Given the description of an element on the screen output the (x, y) to click on. 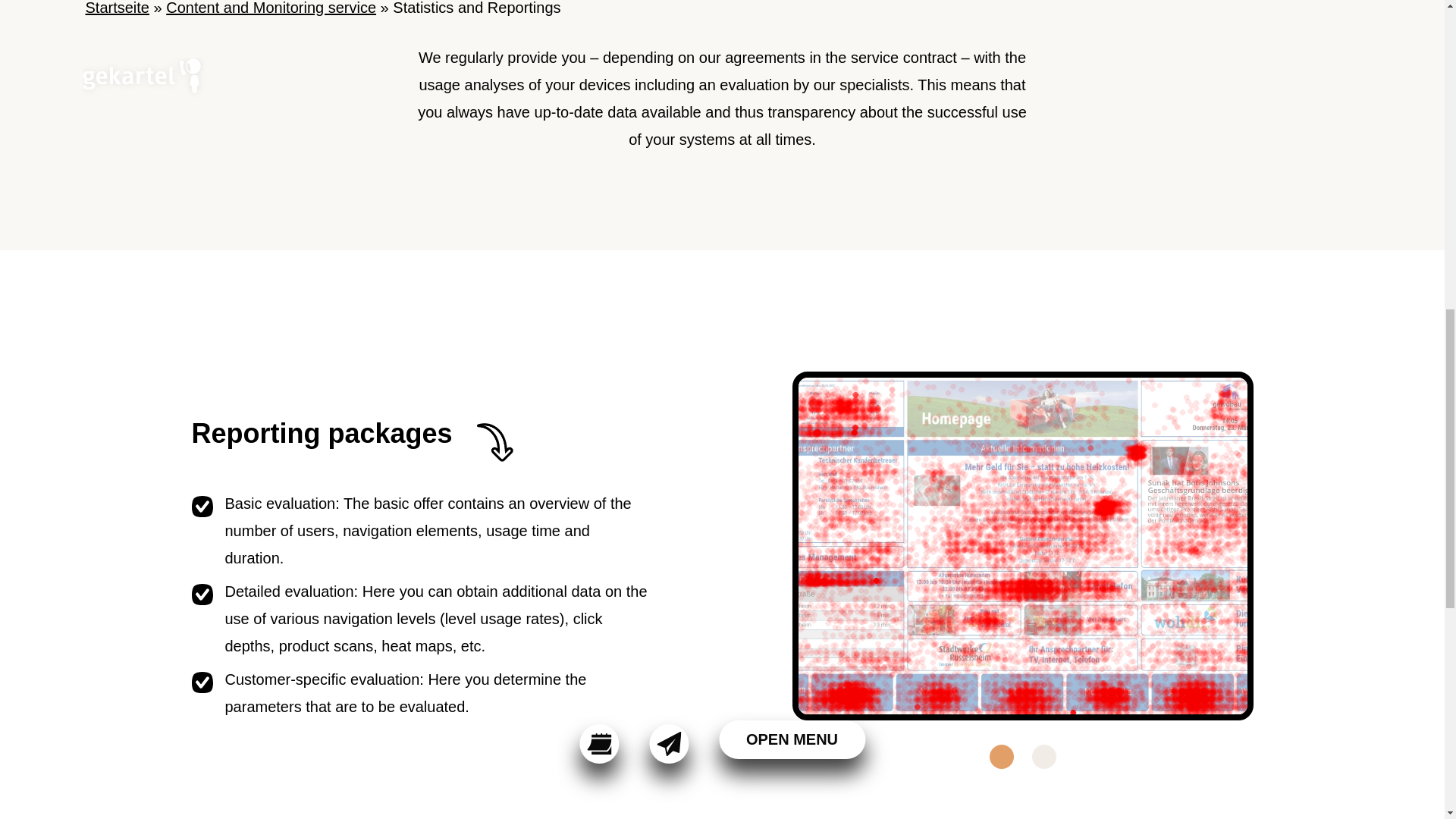
1 (1000, 756)
ABSENDEN (339, 687)
Startseite (116, 7)
2 (1042, 756)
Content and Monitoring service (270, 7)
